Given the description of an element on the screen output the (x, y) to click on. 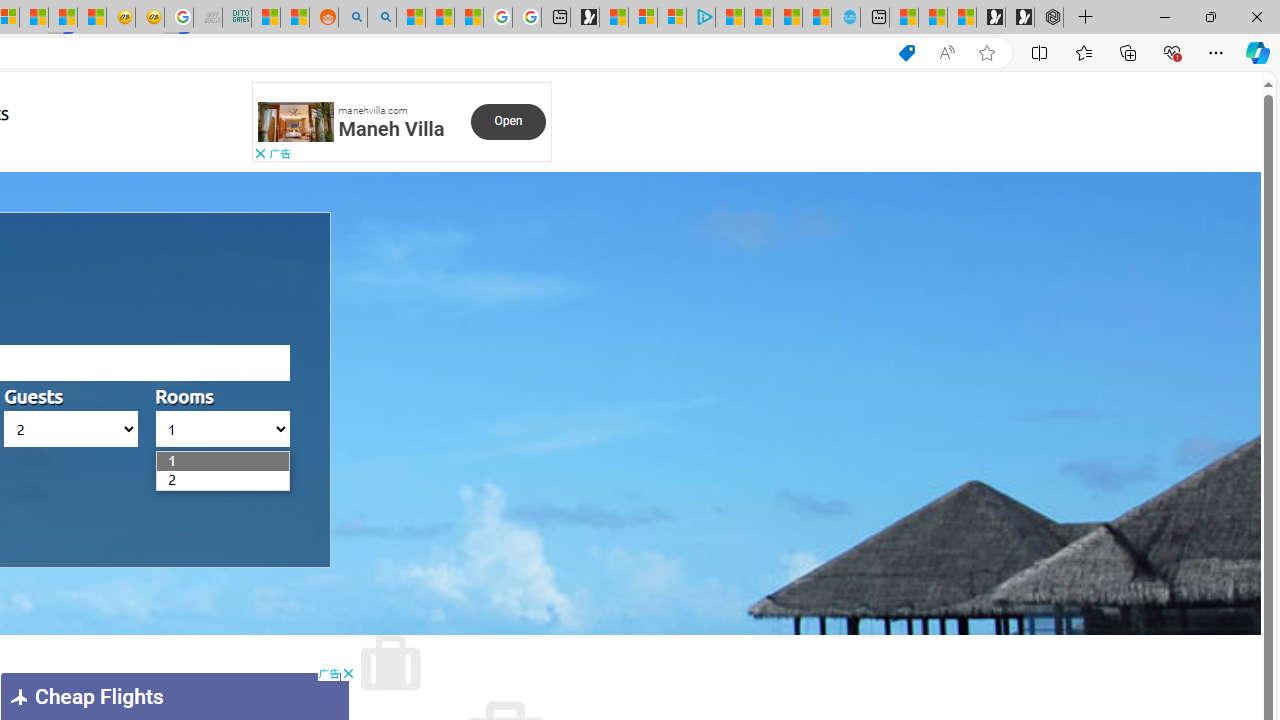
AutomationID: cbb (347, 673)
